Given the description of an element on the screen output the (x, y) to click on. 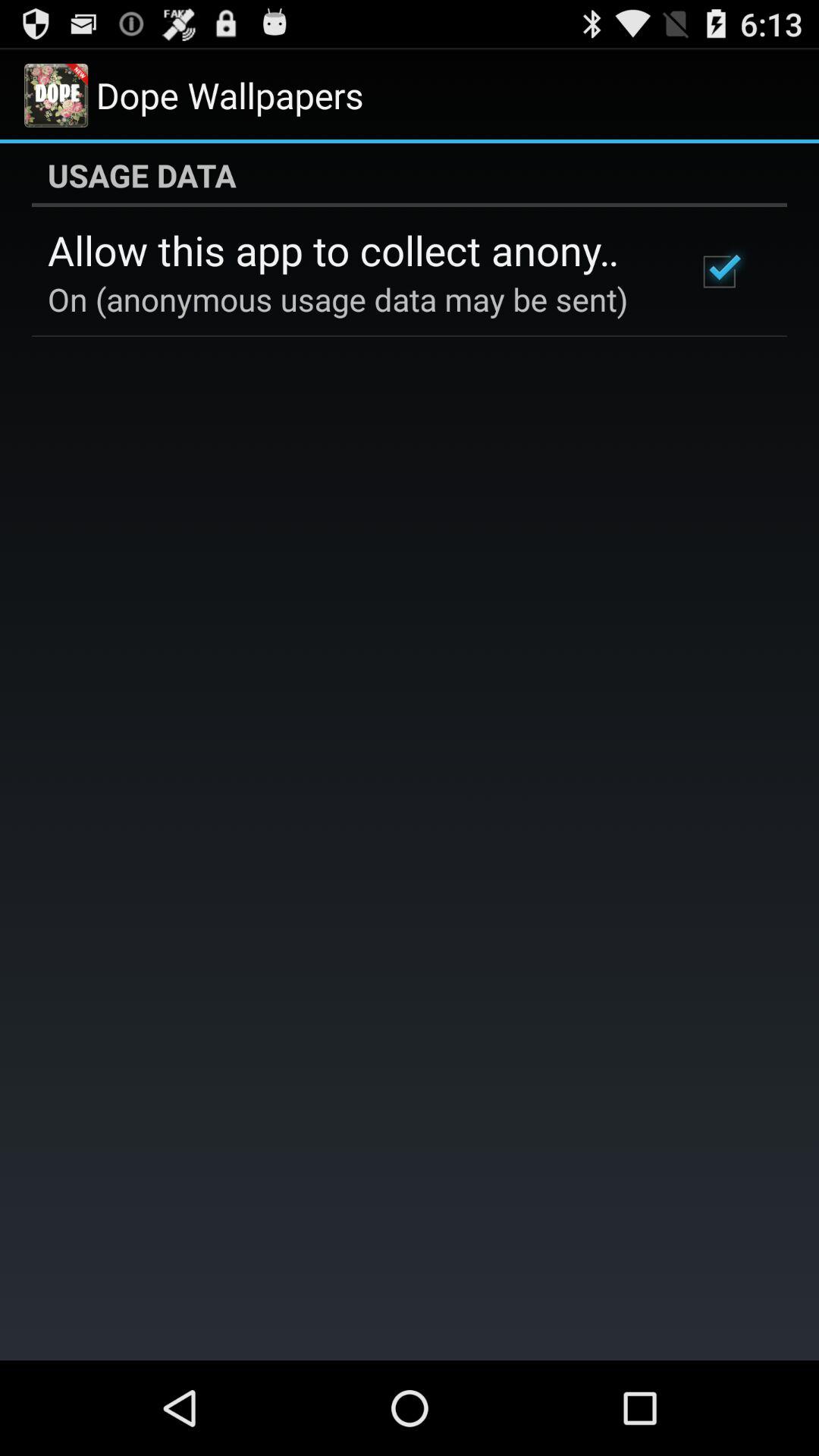
choose the app next to the allow this app app (719, 271)
